Given the description of an element on the screen output the (x, y) to click on. 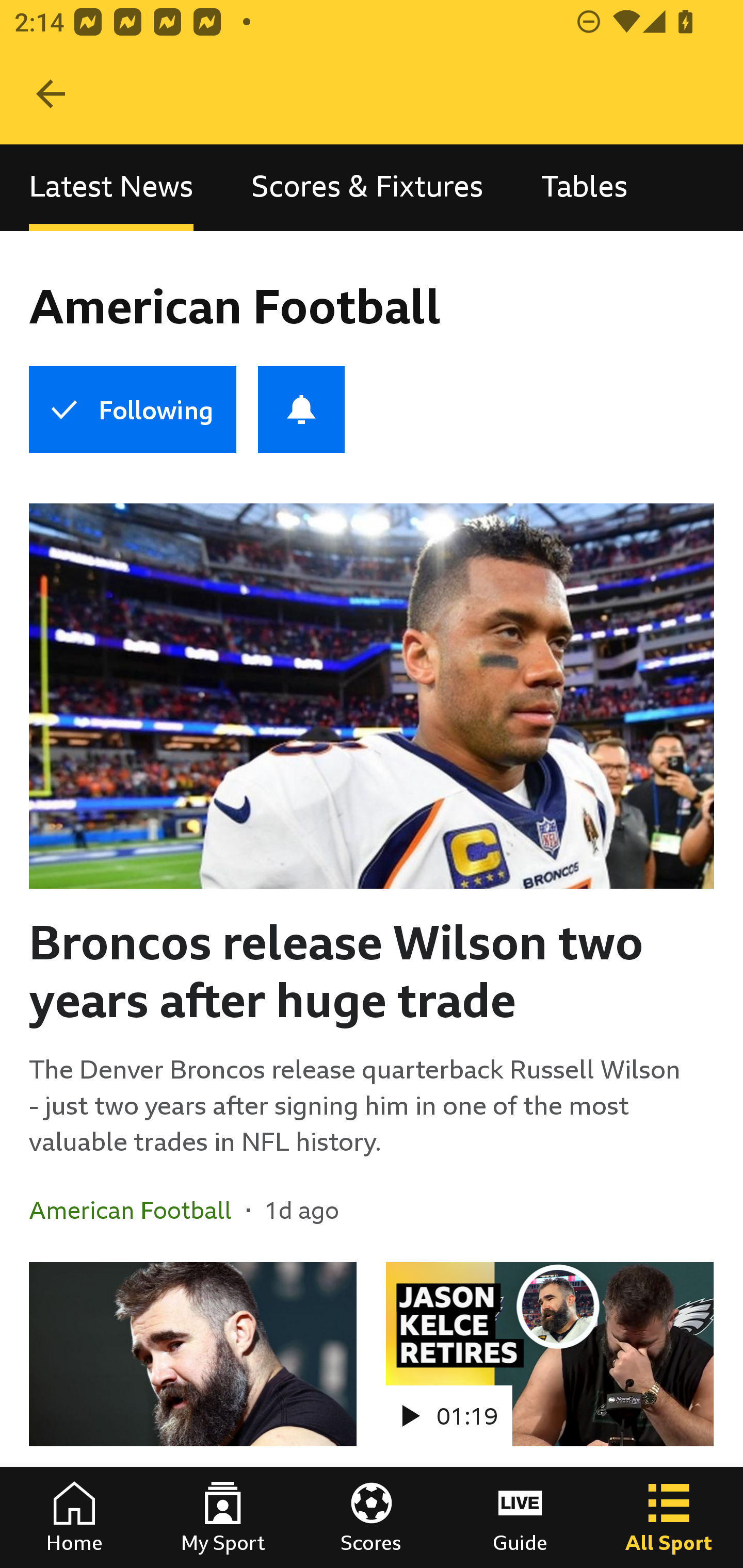
Navigate up (50, 93)
Latest News, selected Latest News (111, 187)
Scores & Fixtures (367, 187)
Tables (584, 187)
Following American Football Following (132, 409)
Push notifications for American Football (300, 409)
Tearful Jason Kelce retires after 13 NFL seasons (192, 1415)
Home (74, 1517)
My Sport (222, 1517)
Scores (371, 1517)
Guide (519, 1517)
